Given the description of an element on the screen output the (x, y) to click on. 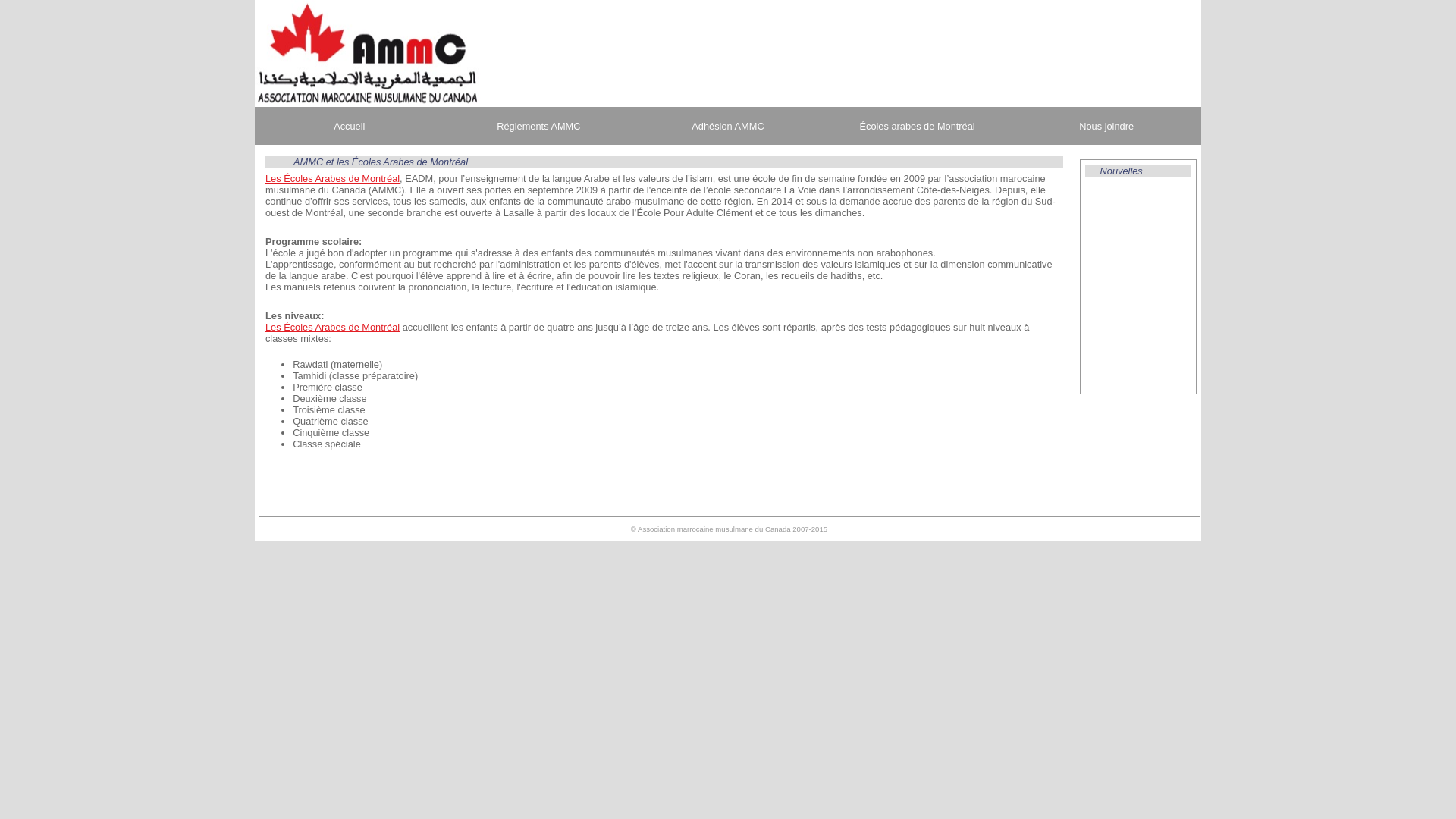
Nous joindre Element type: text (1106, 125)
Accueil Element type: text (349, 125)
